Given the description of an element on the screen output the (x, y) to click on. 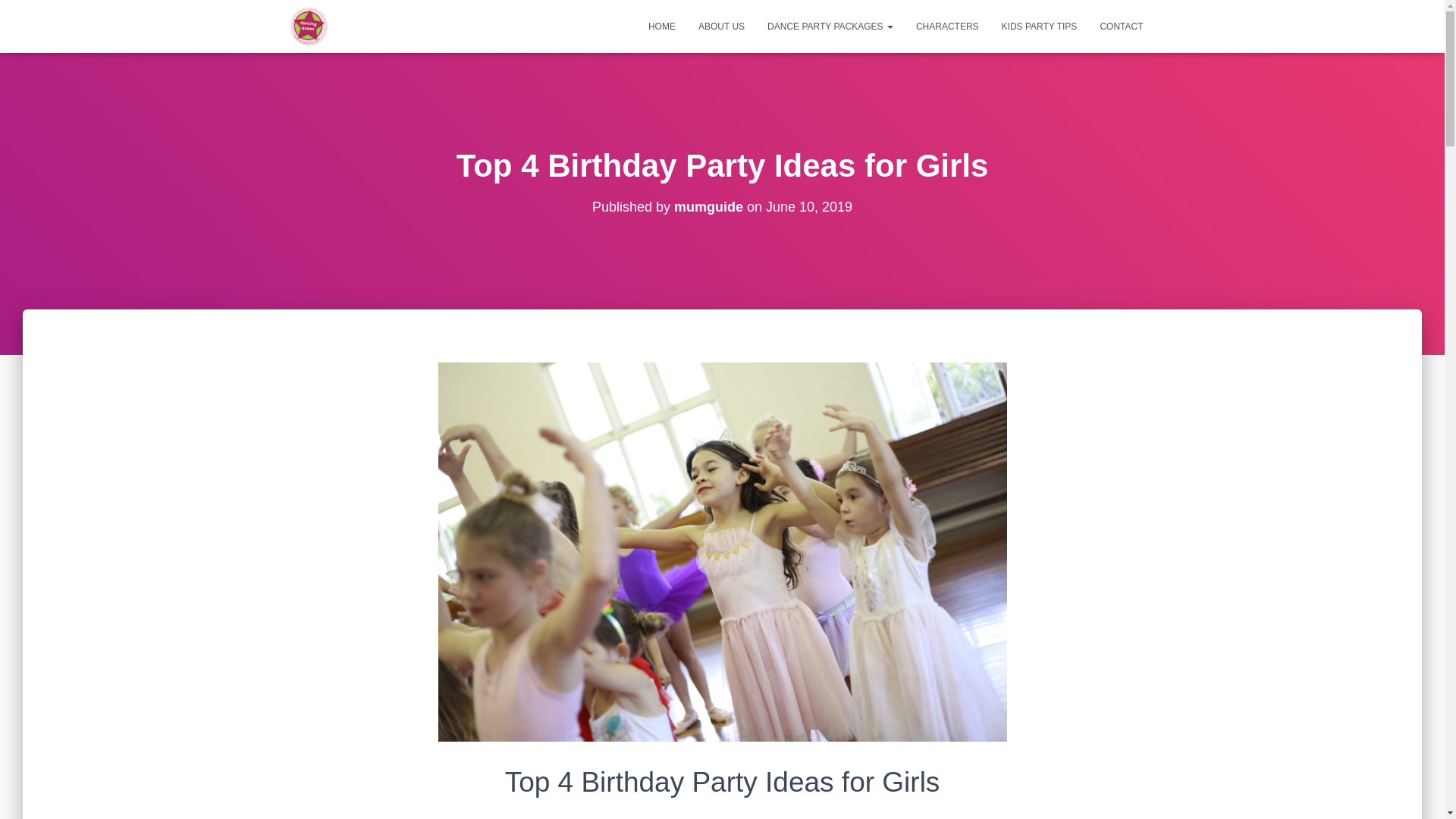
ABOUT US Element type: text (721, 26)
mumguide Element type: text (708, 206)
CONTACT Element type: text (1121, 26)
KIDS PARTY TIPS Element type: text (1039, 26)
CHARACTERS Element type: text (947, 26)
DANCE PARTY PACKAGES Element type: text (830, 26)
HOME Element type: text (662, 26)
